Given the description of an element on the screen output the (x, y) to click on. 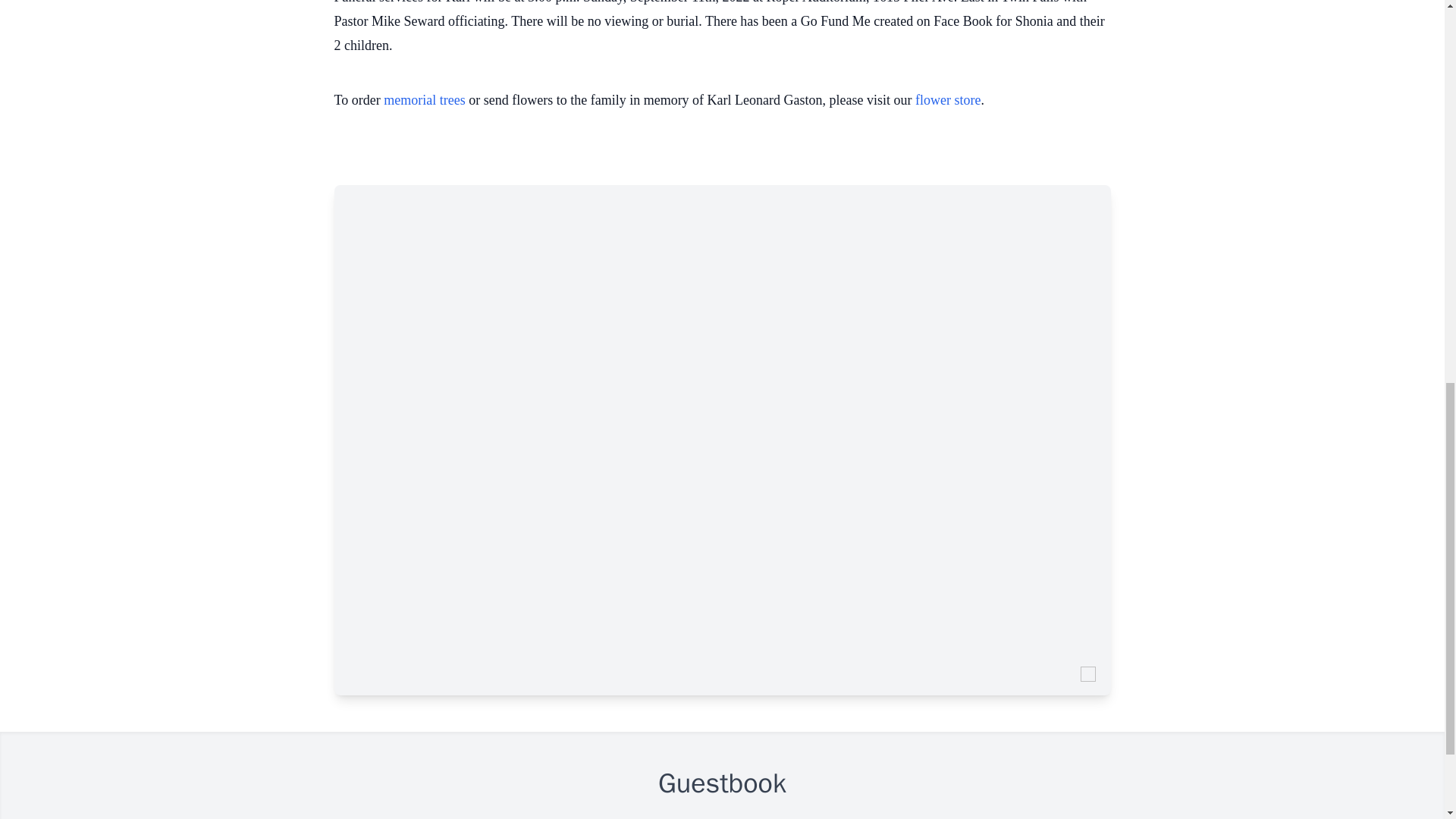
flower store (947, 99)
memorial trees (424, 99)
